Given the description of an element on the screen output the (x, y) to click on. 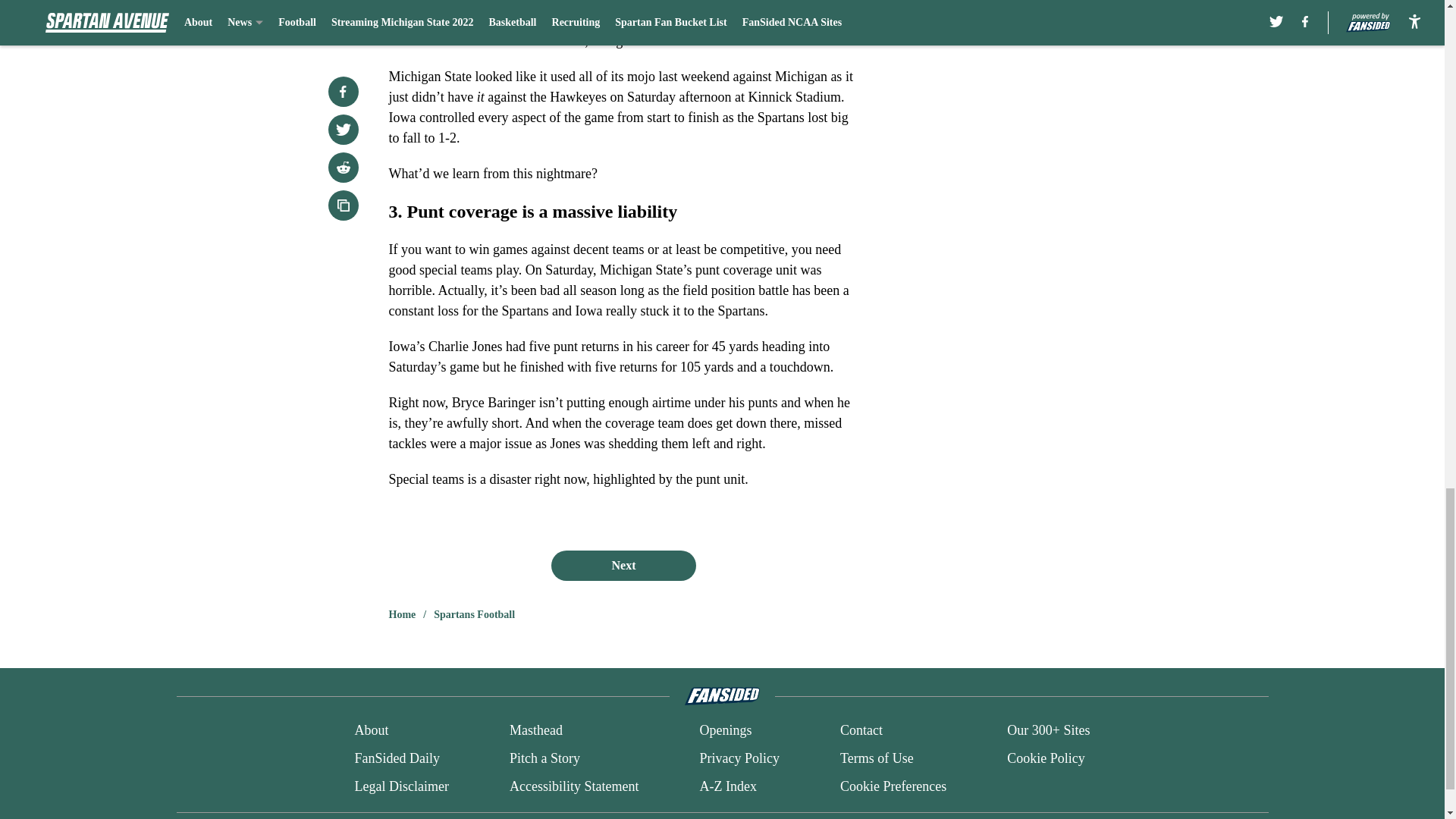
Contact (861, 730)
Spartans Football (474, 614)
Pitch a Story (544, 758)
Openings (724, 730)
Masthead (535, 730)
Next (622, 565)
About (370, 730)
Home (401, 614)
FanSided Daily (396, 758)
